Given the description of an element on the screen output the (x, y) to click on. 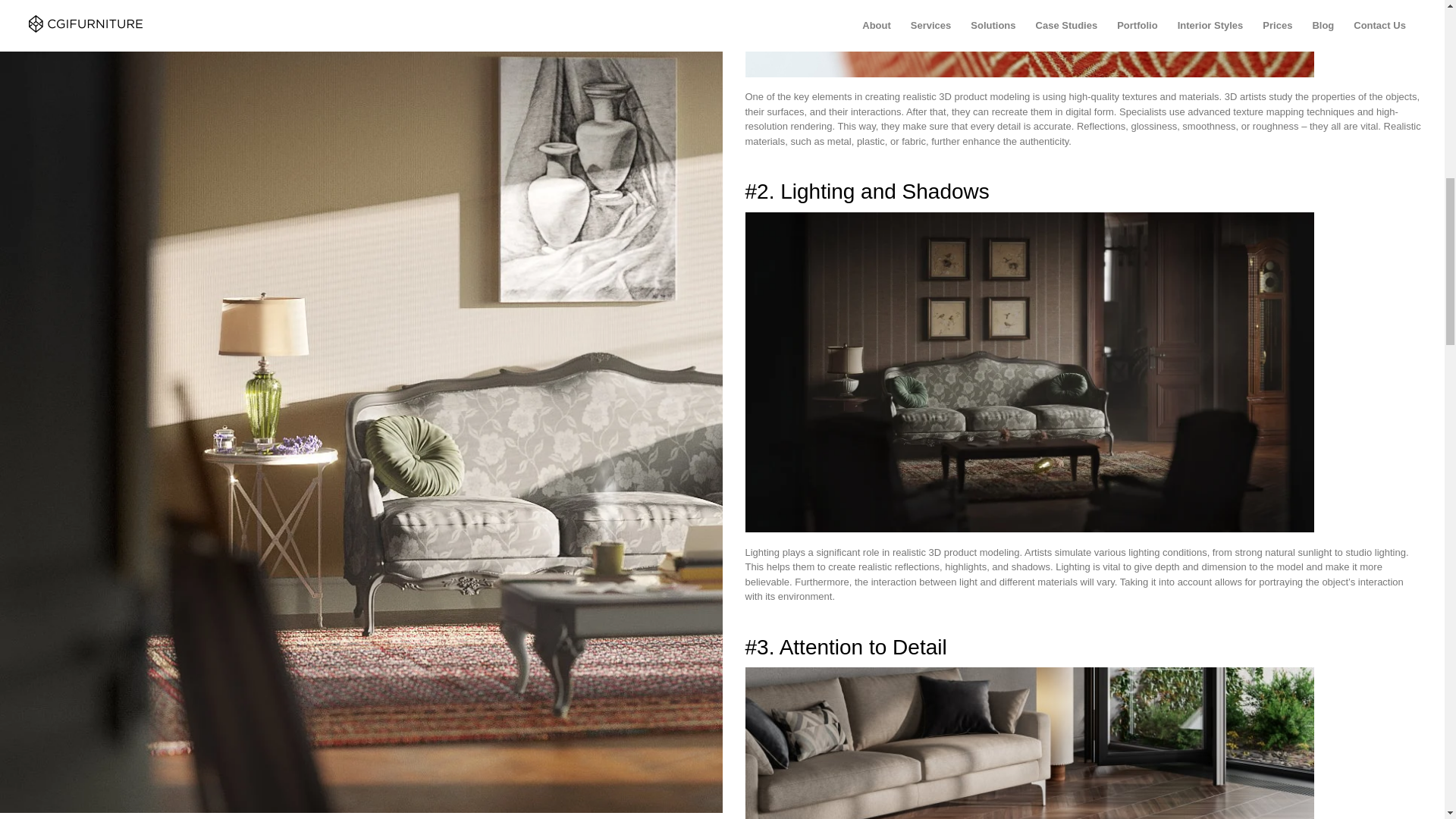
3D Texturing Realistic Close-Up (1028, 38)
Realistic 3D Modeling (1028, 743)
